Given the description of an element on the screen output the (x, y) to click on. 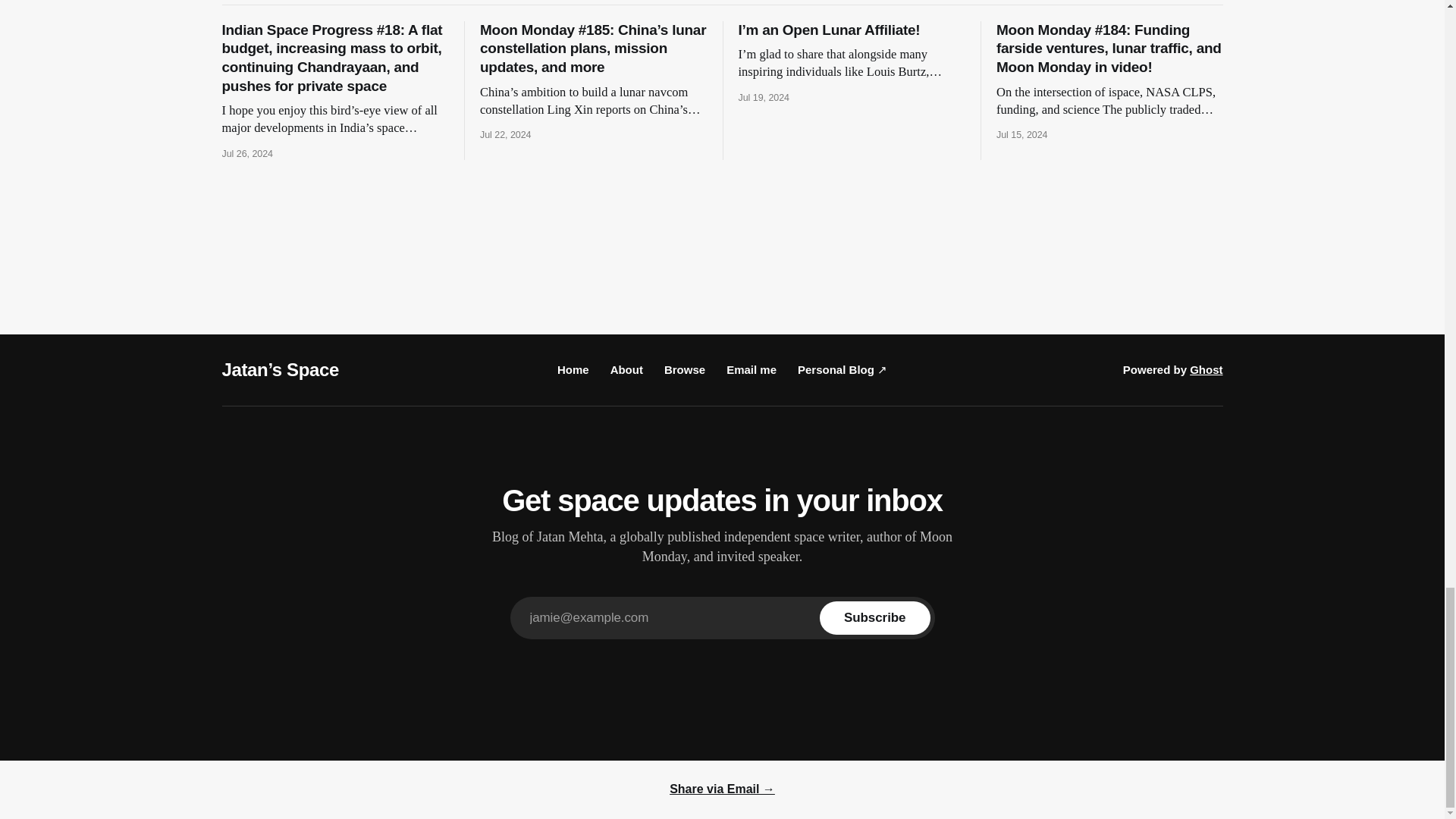
Email me (751, 369)
Ghost (1206, 369)
Subscribe (874, 617)
About (626, 369)
Browse (683, 369)
Home (573, 369)
